Given the description of an element on the screen output the (x, y) to click on. 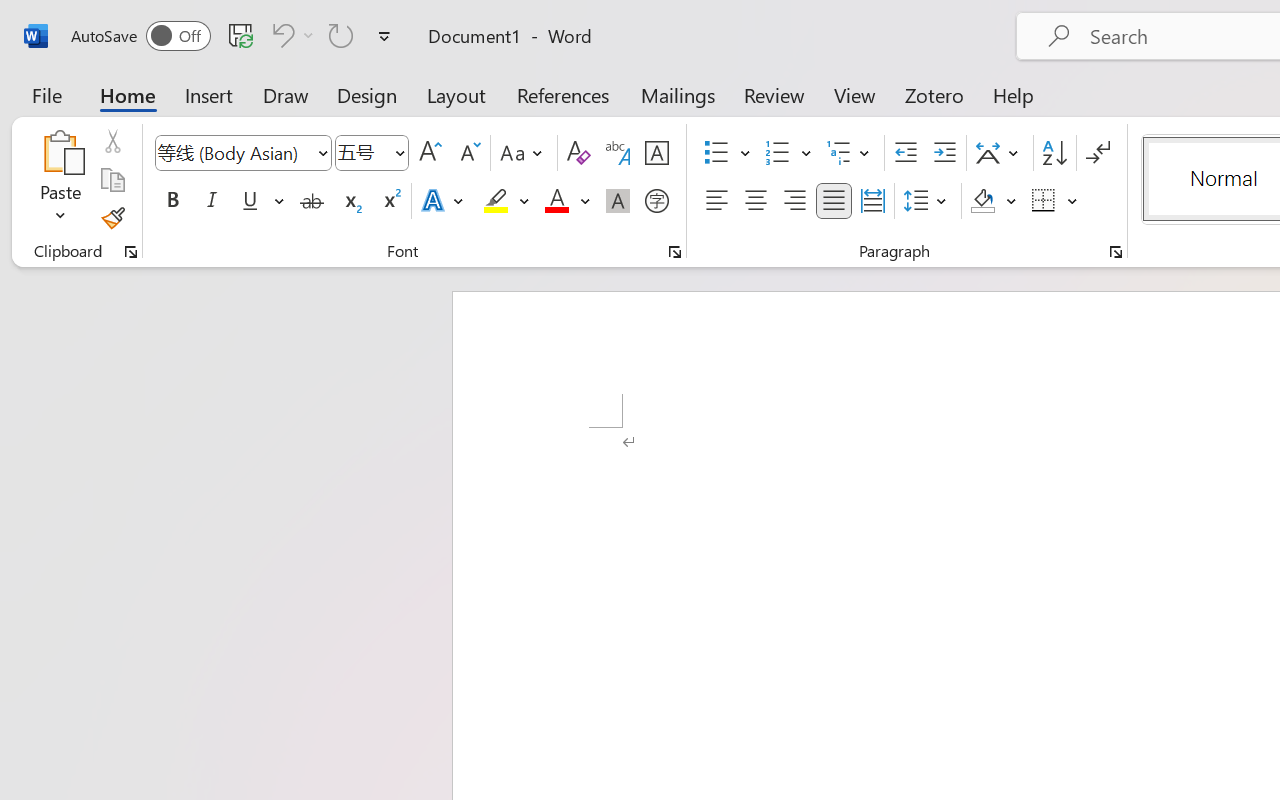
Can't Undo (280, 35)
